Given the description of an element on the screen output the (x, y) to click on. 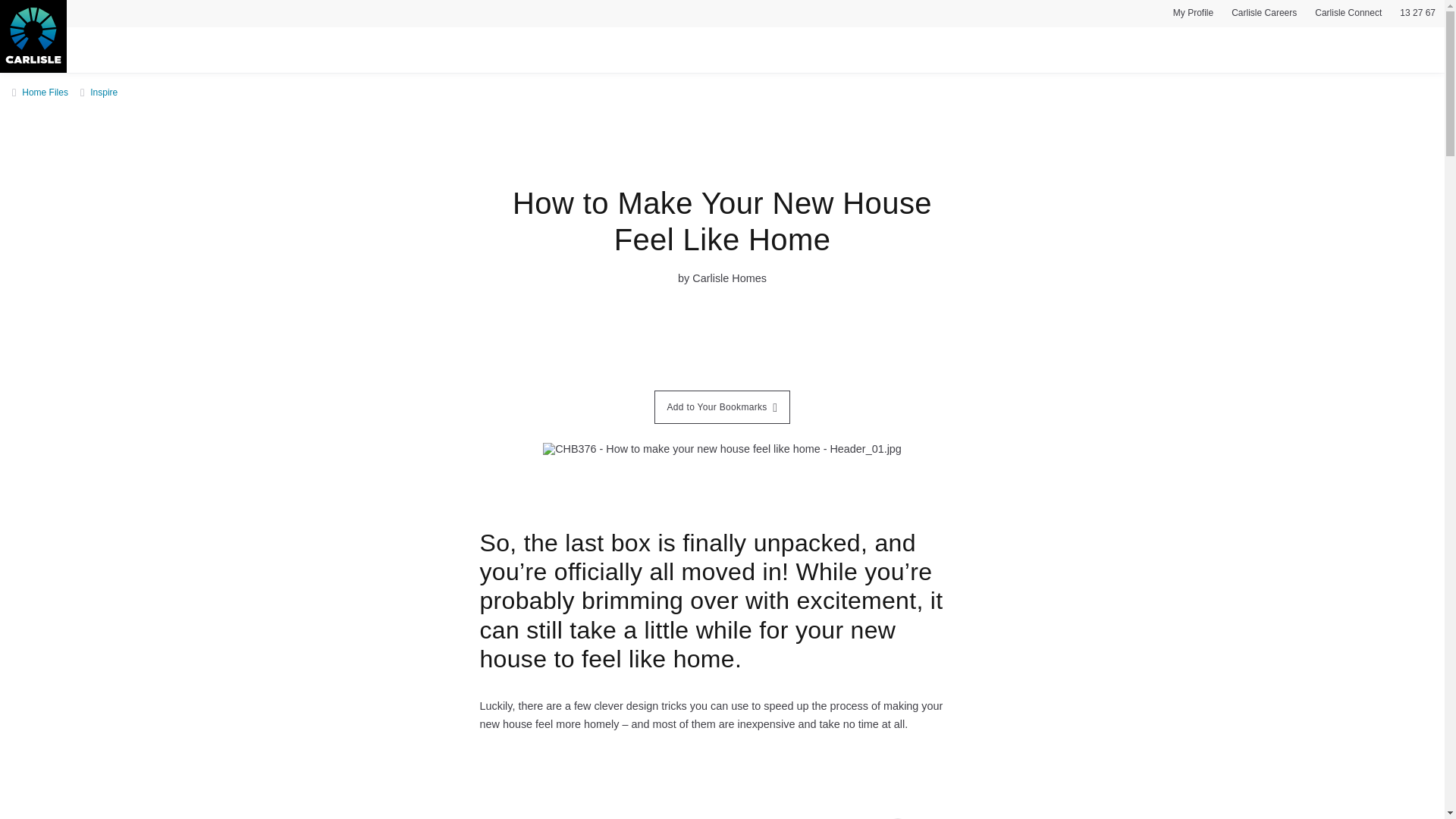
My Profile (1192, 15)
13 27 67 (1417, 15)
Carlisle Careers (1264, 15)
Carlisle Connect (1347, 15)
